Given the description of an element on the screen output the (x, y) to click on. 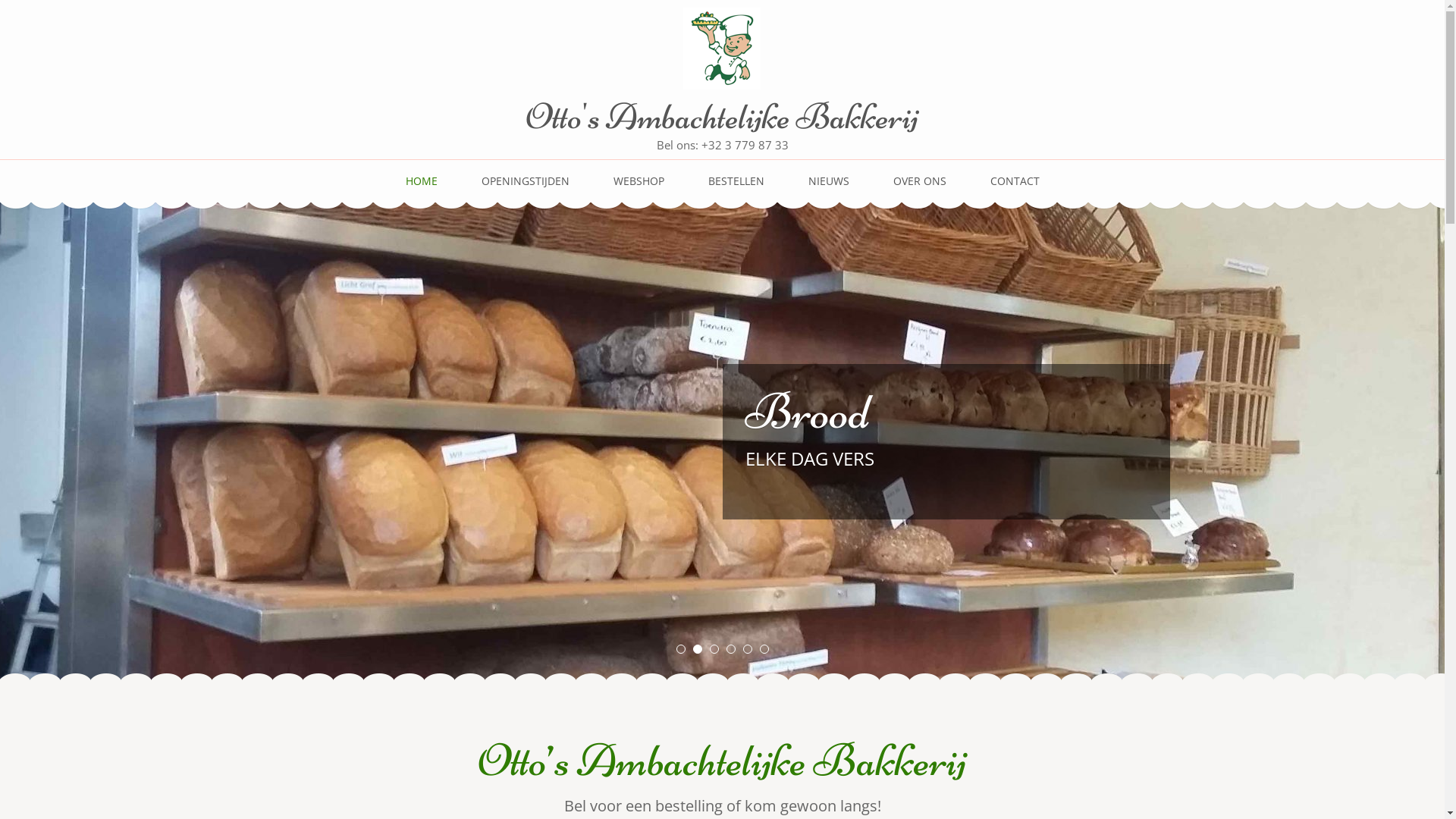
HOME Element type: text (420, 187)
BESTELLEN Element type: text (736, 187)
OVER ONS Element type: text (919, 187)
OPENINGSTIJDEN Element type: text (524, 187)
CONTACT Element type: text (1014, 187)
WEBSHOP Element type: text (637, 187)
Otto's Ambachtelijke Bakkerij Element type: text (722, 116)
NIEUWS Element type: text (828, 187)
